Given the description of an element on the screen output the (x, y) to click on. 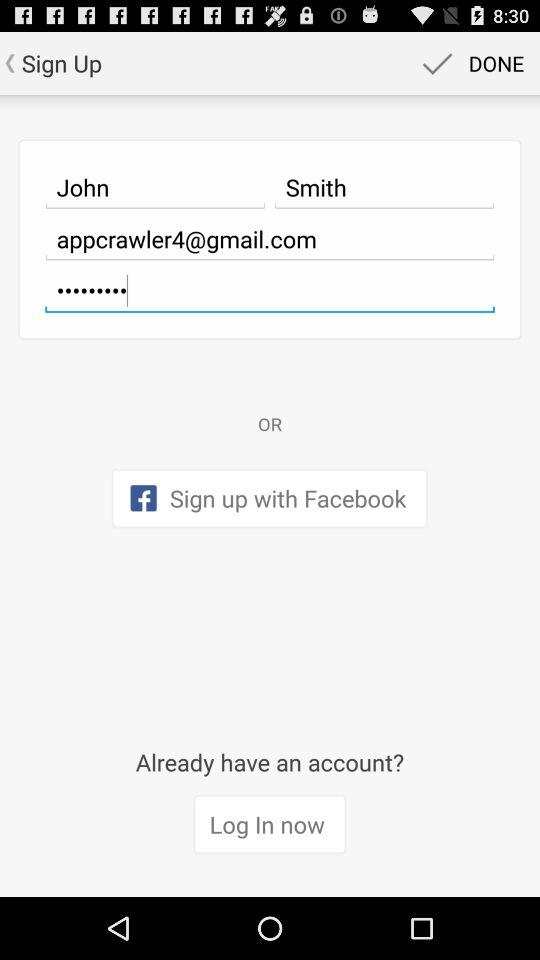
tap item above smith icon (470, 62)
